Given the description of an element on the screen output the (x, y) to click on. 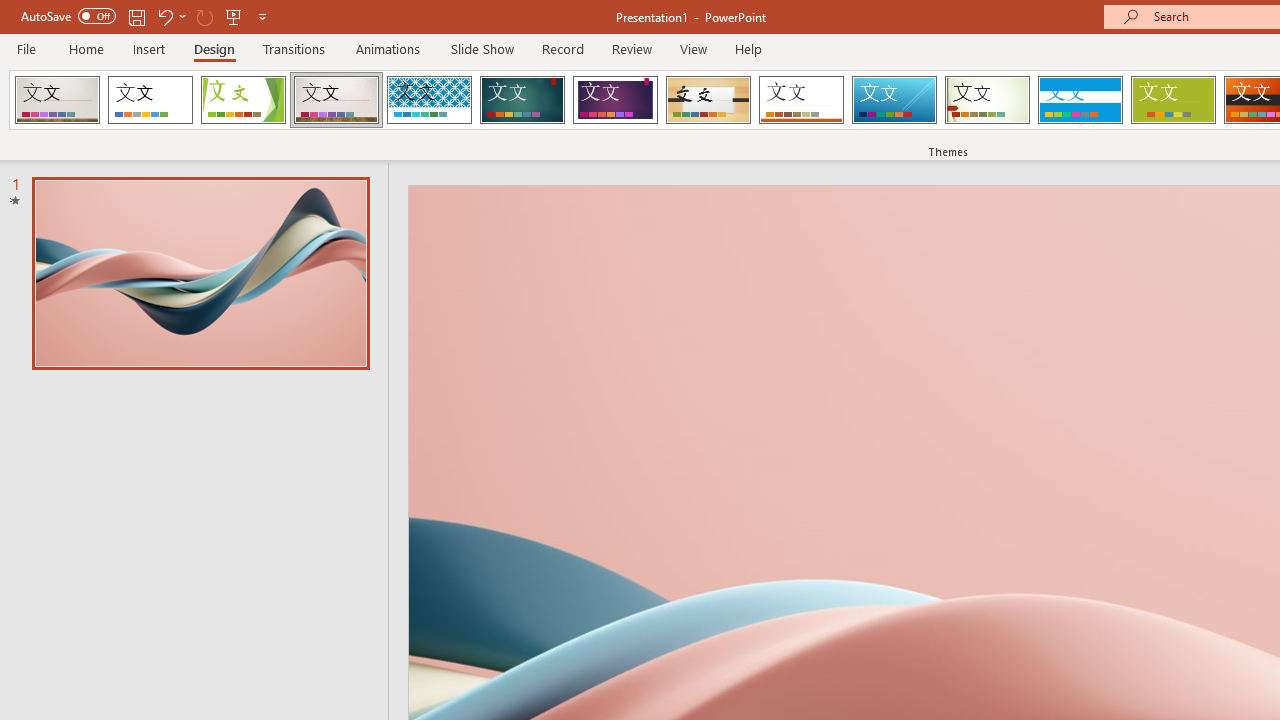
Ion Boardroom (615, 100)
Organic (708, 100)
Ion (522, 100)
AdornVTI (57, 100)
Retrospect (801, 100)
